Given the description of an element on the screen output the (x, y) to click on. 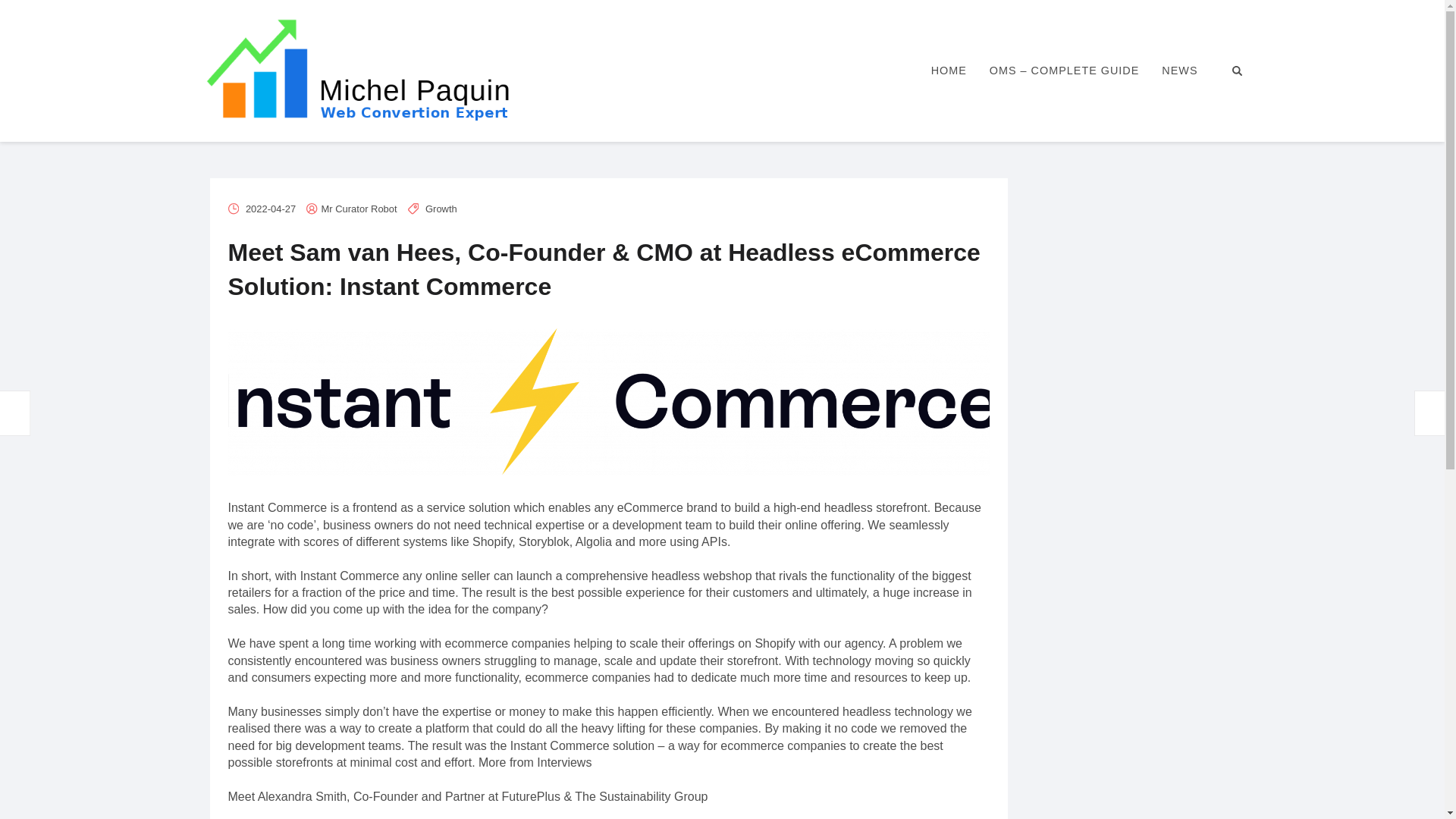
NEWS (1179, 70)
2022-04-27 (270, 208)
Growth (441, 208)
Mr Curator Robot (359, 208)
HOME (949, 70)
